Given the description of an element on the screen output the (x, y) to click on. 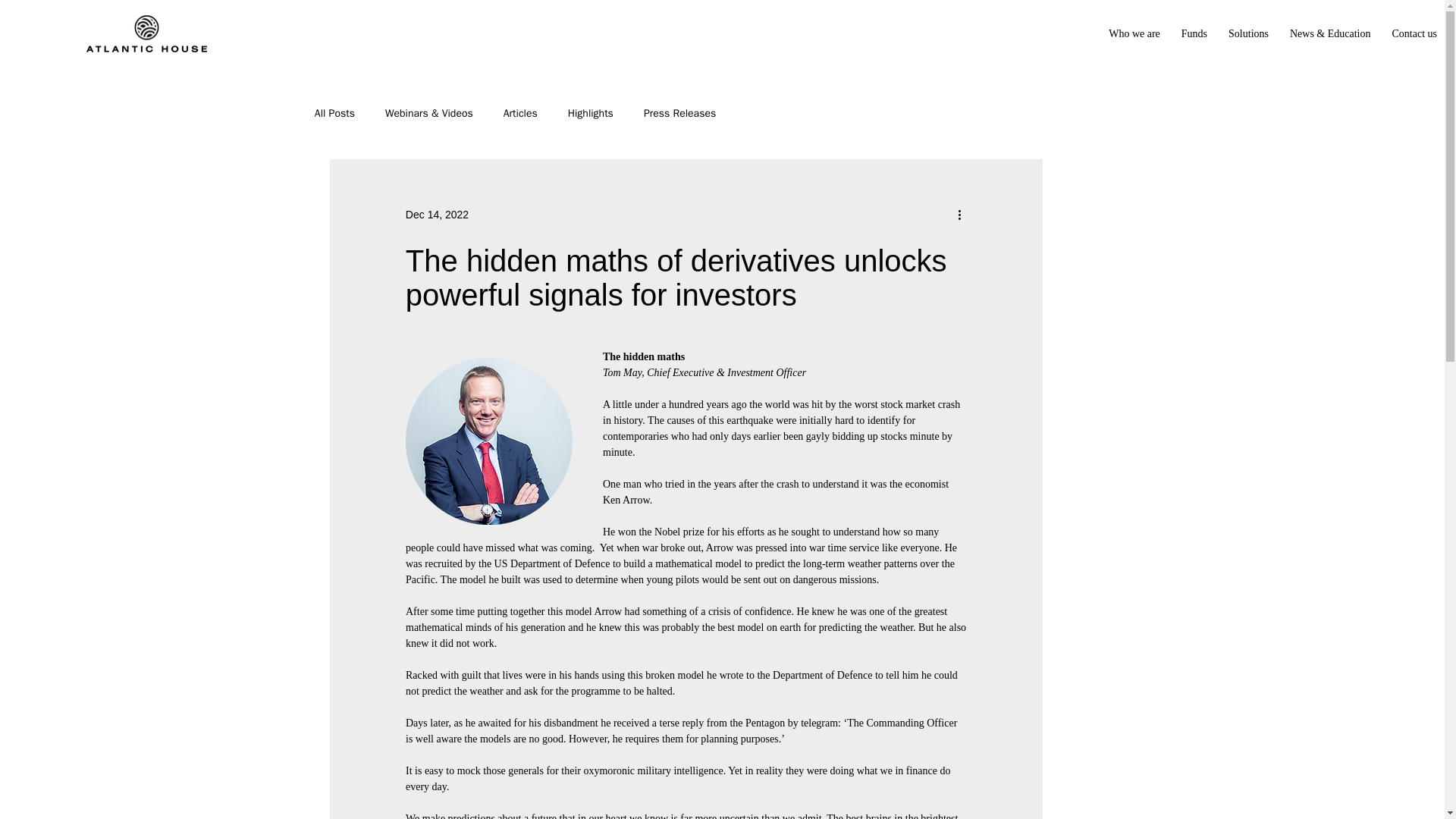
Press Releases (679, 113)
Solutions (1248, 33)
Funds (1193, 33)
Who we are (1133, 33)
Articles (520, 113)
Dec 14, 2022 (437, 214)
Highlights (589, 113)
All Posts (334, 113)
